Given the description of an element on the screen output the (x, y) to click on. 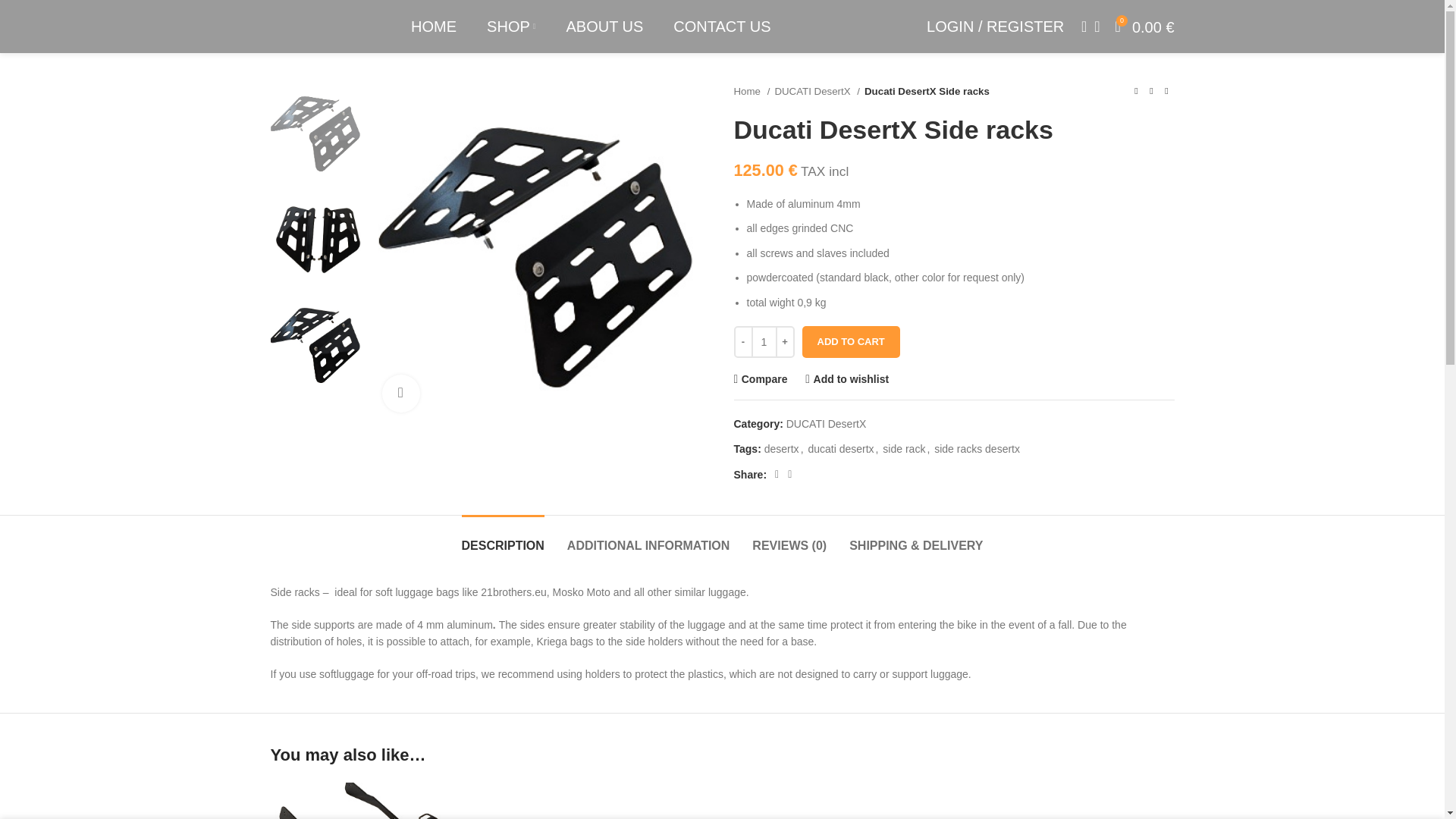
HOME (433, 26)
Home (751, 91)
My account (994, 26)
SHOP (510, 26)
CONTACT US (721, 26)
DUCATI DesertX (817, 91)
ABOUT US (604, 26)
Shopping cart (1145, 26)
